Given the description of an element on the screen output the (x, y) to click on. 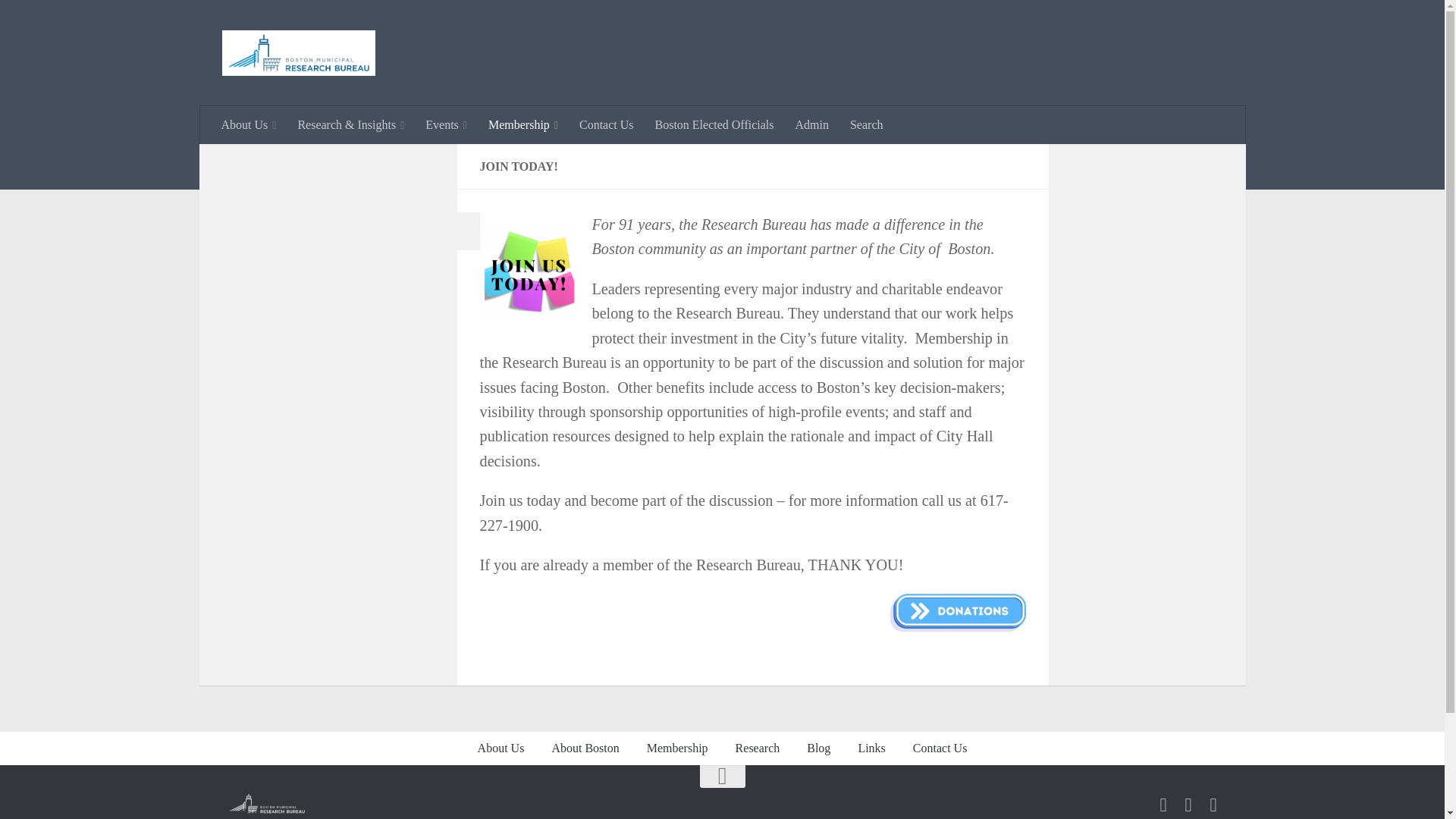
About Us (248, 125)
Follow us on Twitter (1186, 804)
Follow us on Linkedin-in (1213, 804)
Skip to content (59, 20)
Follow us on Facebook (1162, 804)
